Given the description of an element on the screen output the (x, y) to click on. 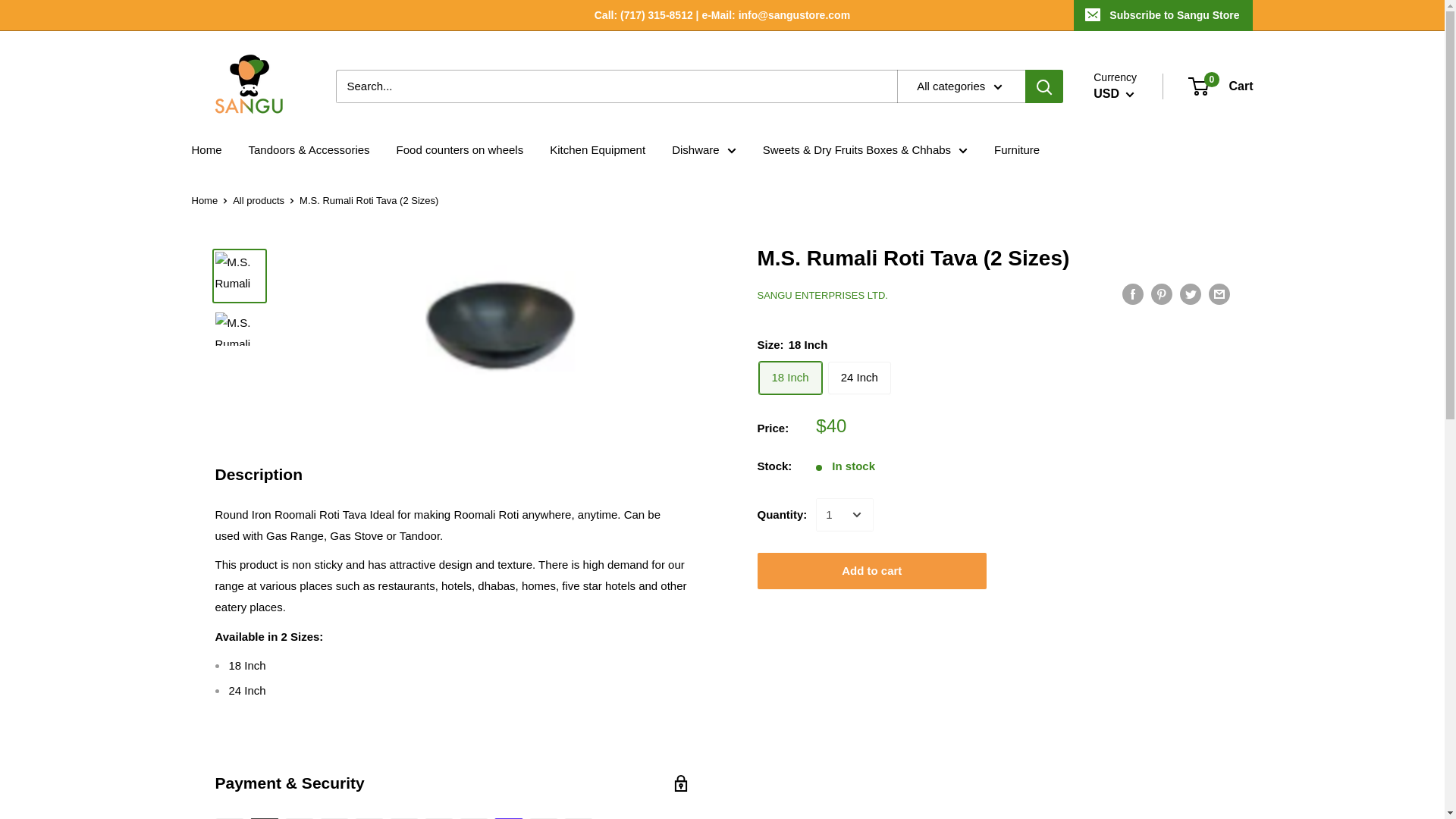
18 Inch (789, 377)
24 Inch (859, 377)
Subscribe to Sangu Store (1163, 15)
USD (1220, 86)
